Given the description of an element on the screen output the (x, y) to click on. 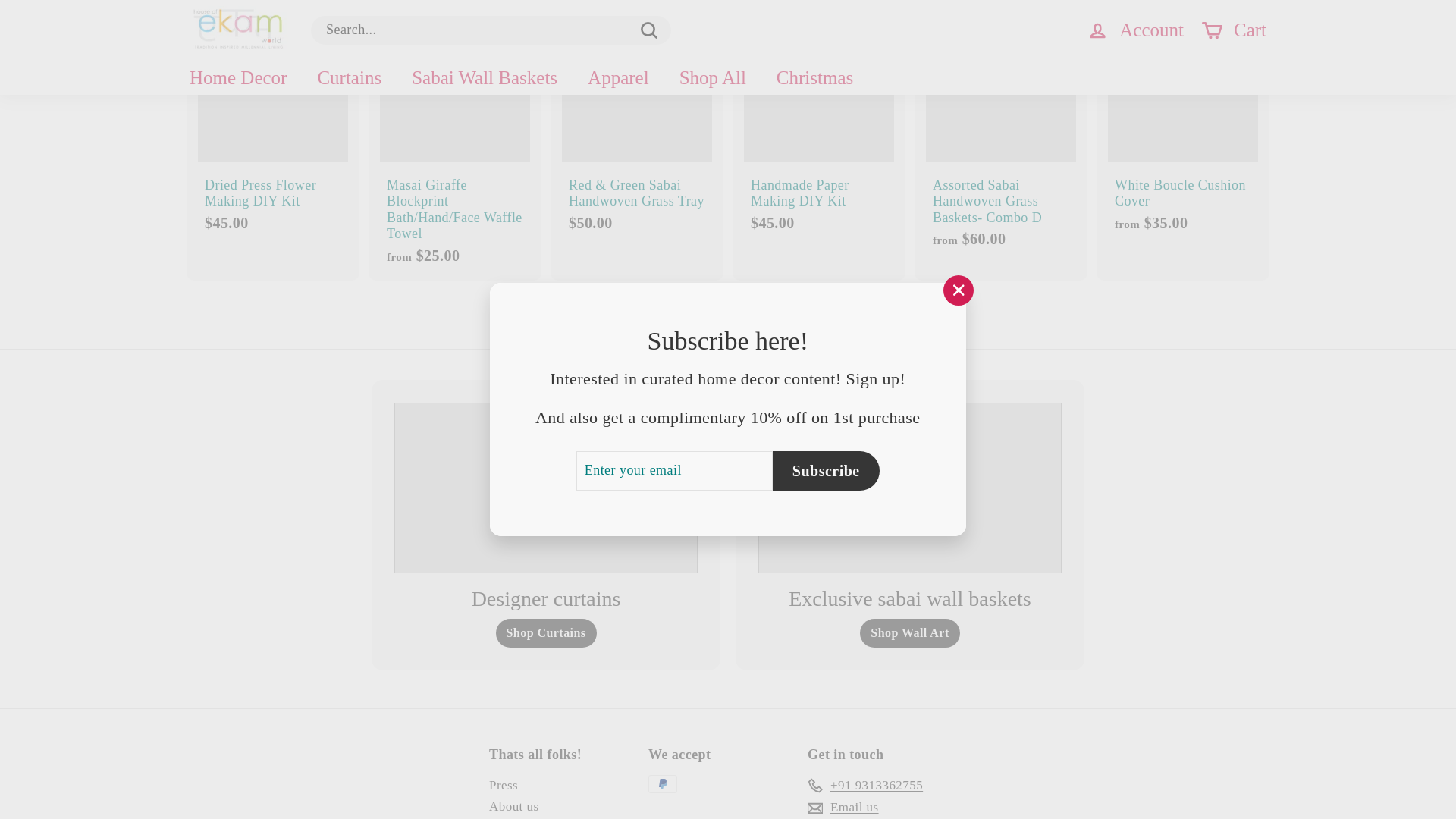
PayPal (662, 783)
